Given the description of an element on the screen output the (x, y) to click on. 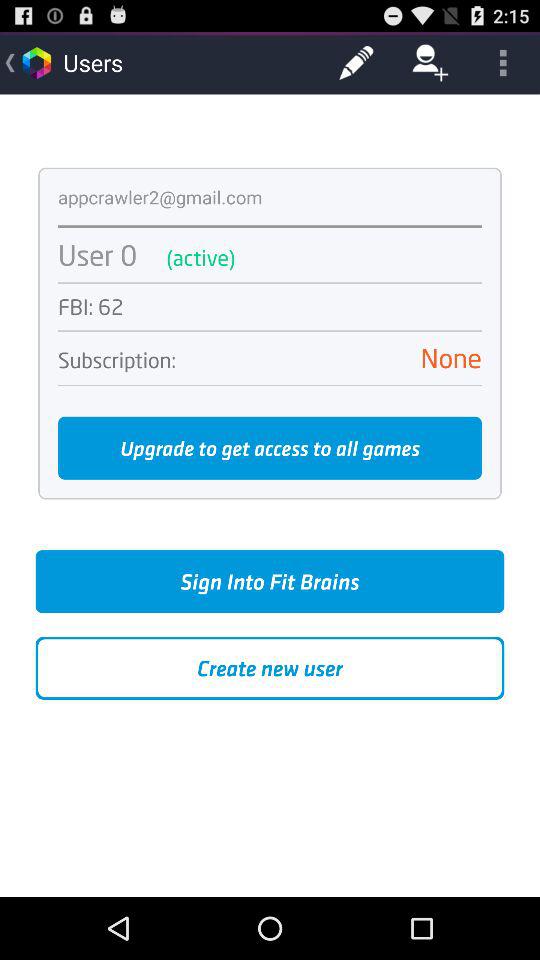
turn off upgrade to get button (269, 447)
